Given the description of an element on the screen output the (x, y) to click on. 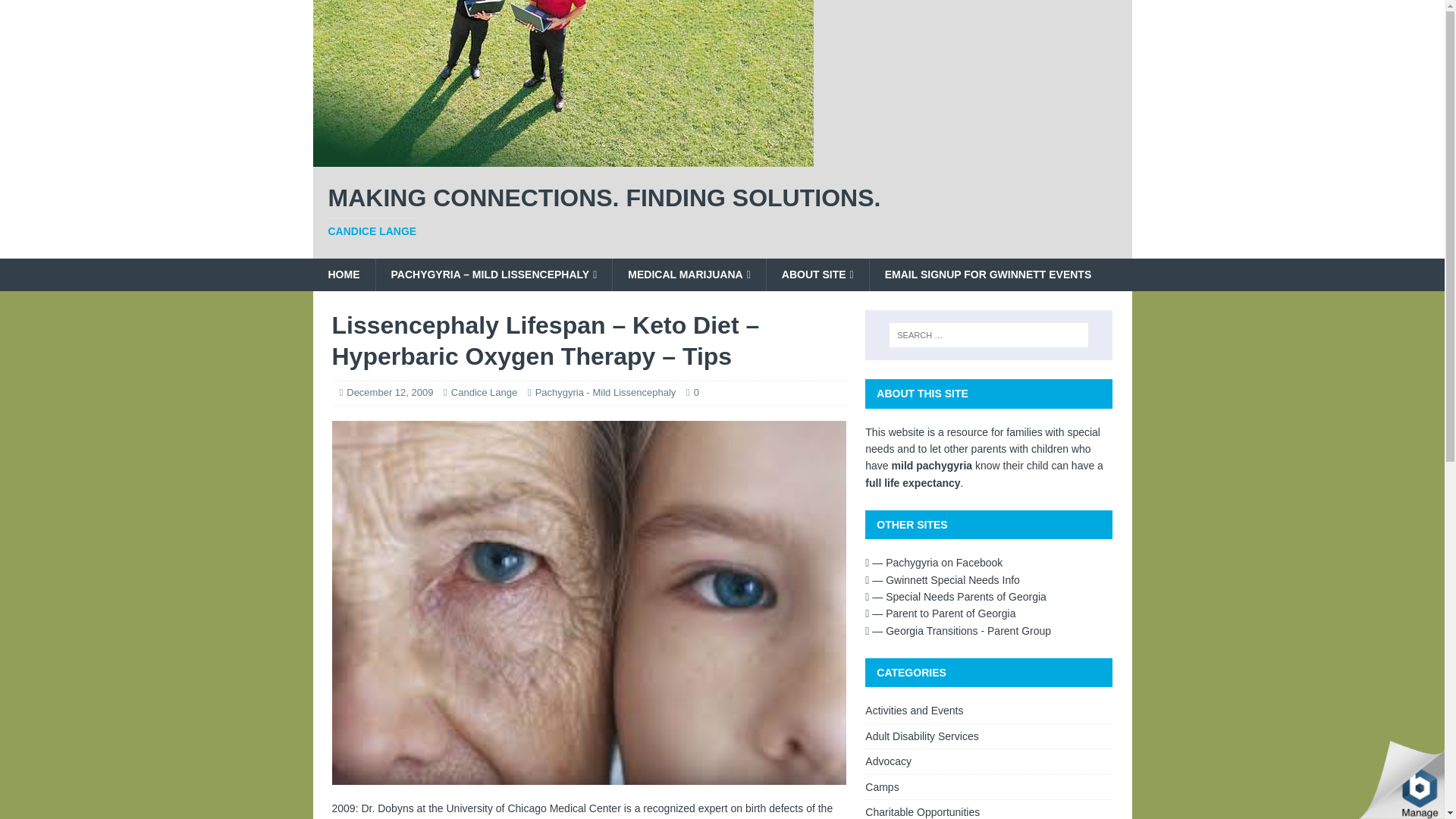
EMAIL SIGNUP FOR GWINNETT EVENTS (987, 274)
Gwinnett Special Needs Info (942, 580)
ABOUT SITE (817, 274)
Georgia Transitions - Parent Group (957, 630)
Making Connections. Finding Solutions. (562, 158)
December 12, 2009 (389, 392)
Special Needs Parents of Georgia (955, 596)
Making Connections. Finding Solutions. (721, 211)
HOME (343, 274)
